Given the description of an element on the screen output the (x, y) to click on. 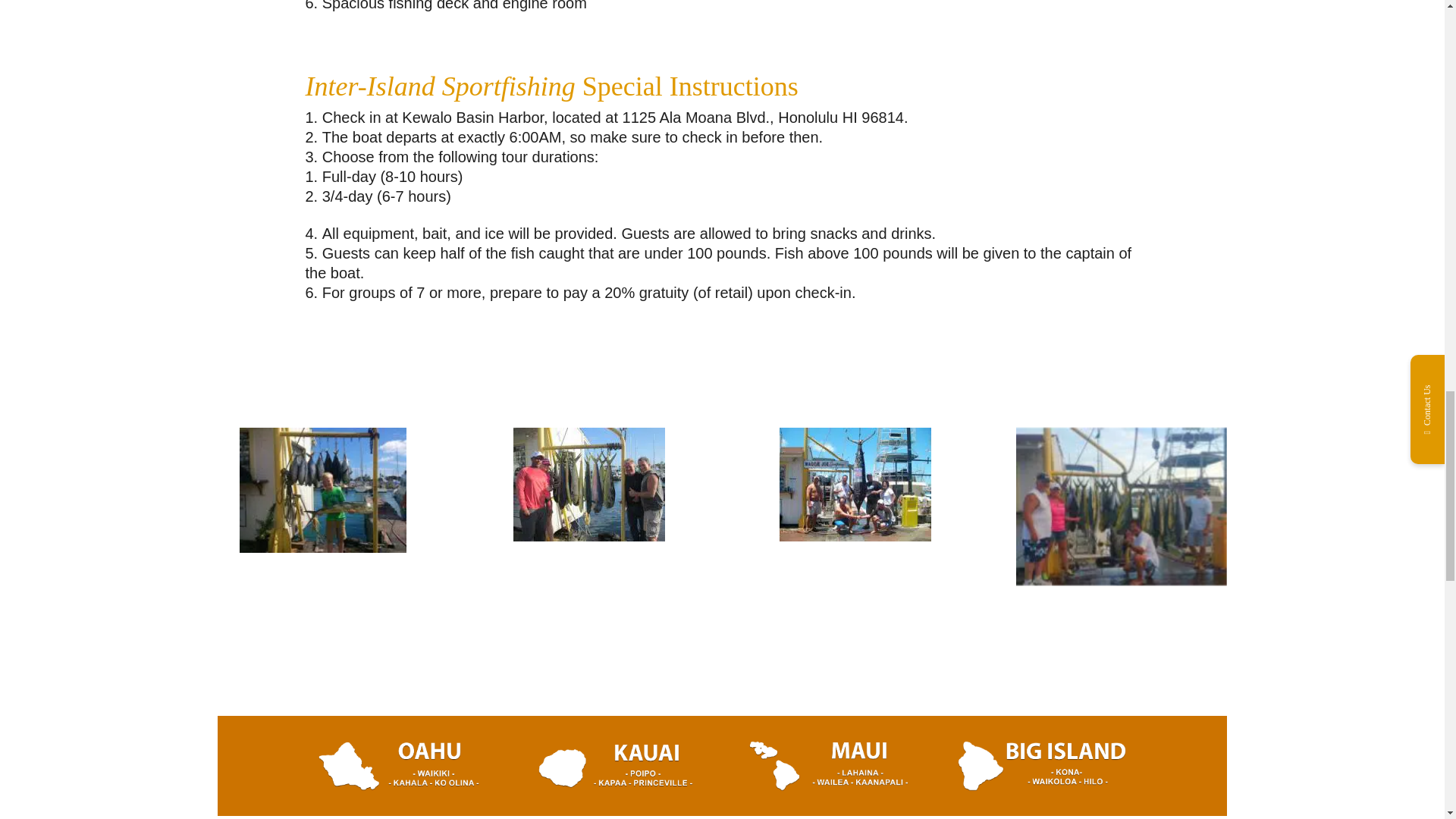
kauai (615, 785)
E7nF7oG8 (589, 535)
El6Bip8E (323, 547)
maui (828, 785)
big-island (1041, 785)
oahu (402, 785)
76554ljh (854, 535)
MPruxa12 (1121, 585)
